Given the description of an element on the screen output the (x, y) to click on. 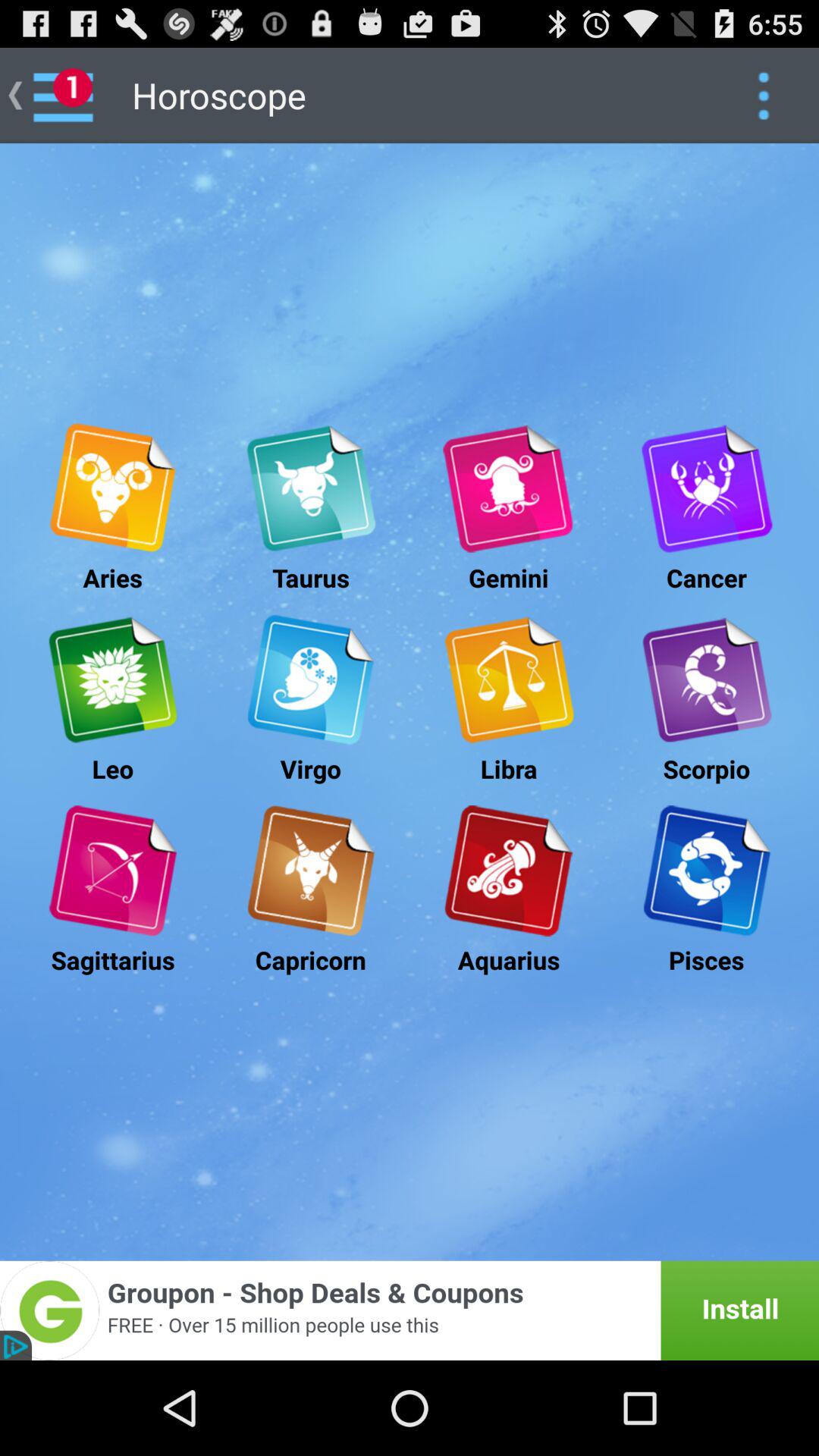
read virgo horoscope (310, 679)
